Given the description of an element on the screen output the (x, y) to click on. 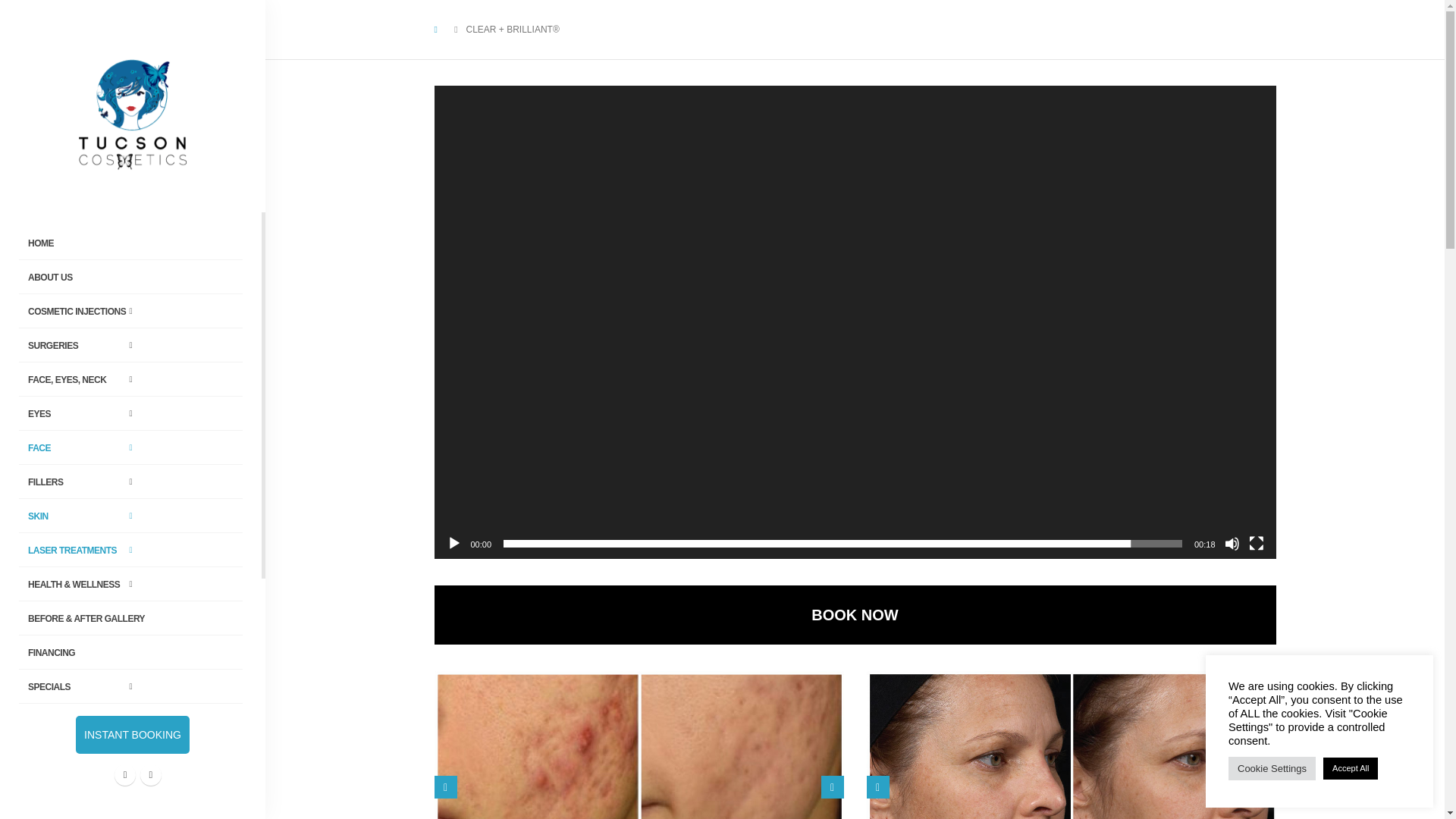
Fullscreen (1255, 543)
Mute (1231, 543)
FACE (130, 448)
ABOUT US (130, 277)
EYES (130, 413)
COSMETIC INJECTIONS (130, 311)
Facebook (125, 774)
FACE, EYES, NECK (130, 379)
Tucson Cosmetics - Sofia Rubbani MD (132, 114)
Play (453, 543)
SURGERIES (130, 345)
HOME (130, 243)
Instagram (150, 774)
